Given the description of an element on the screen output the (x, y) to click on. 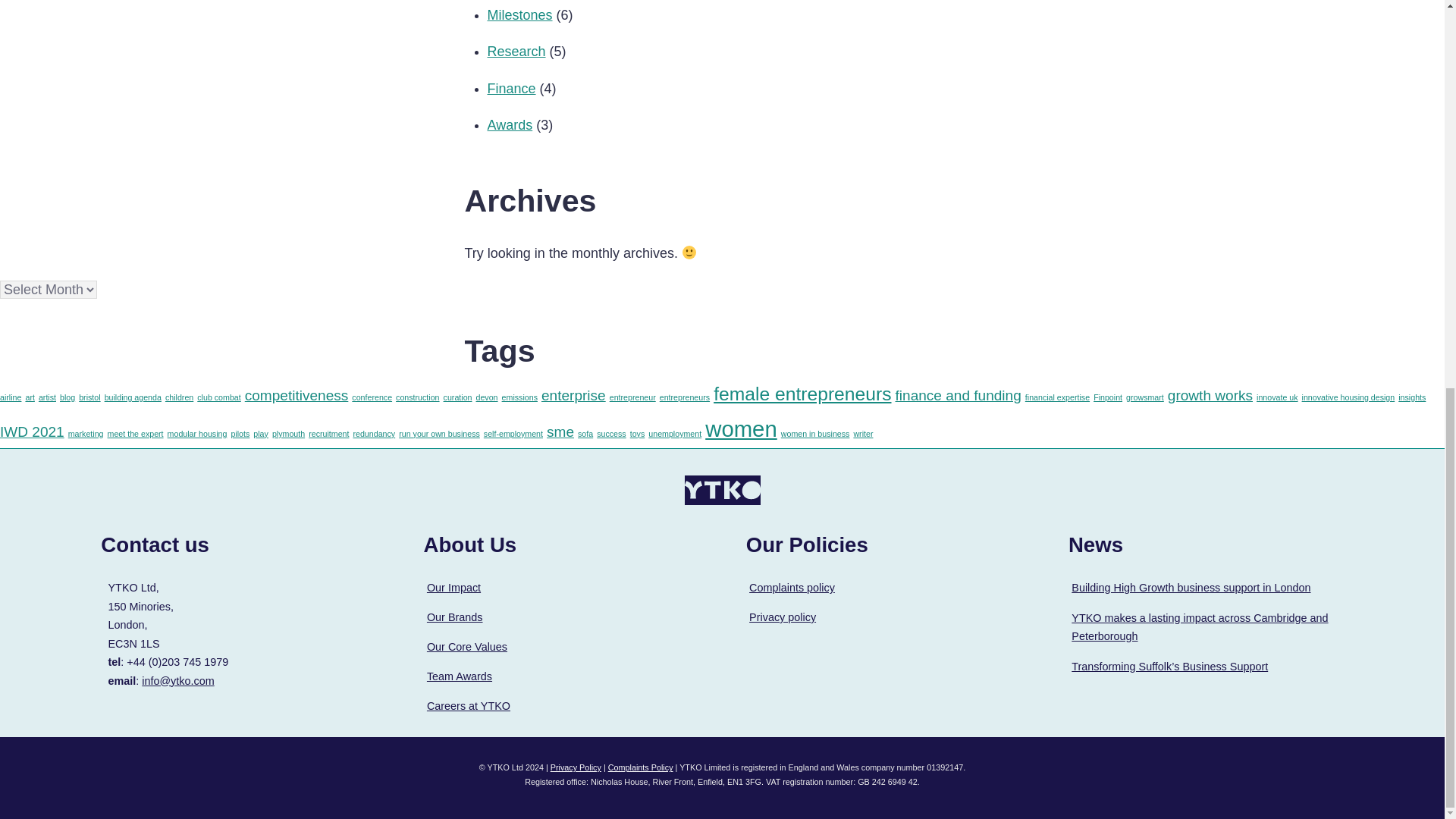
Email YTKO (177, 680)
